Given the description of an element on the screen output the (x, y) to click on. 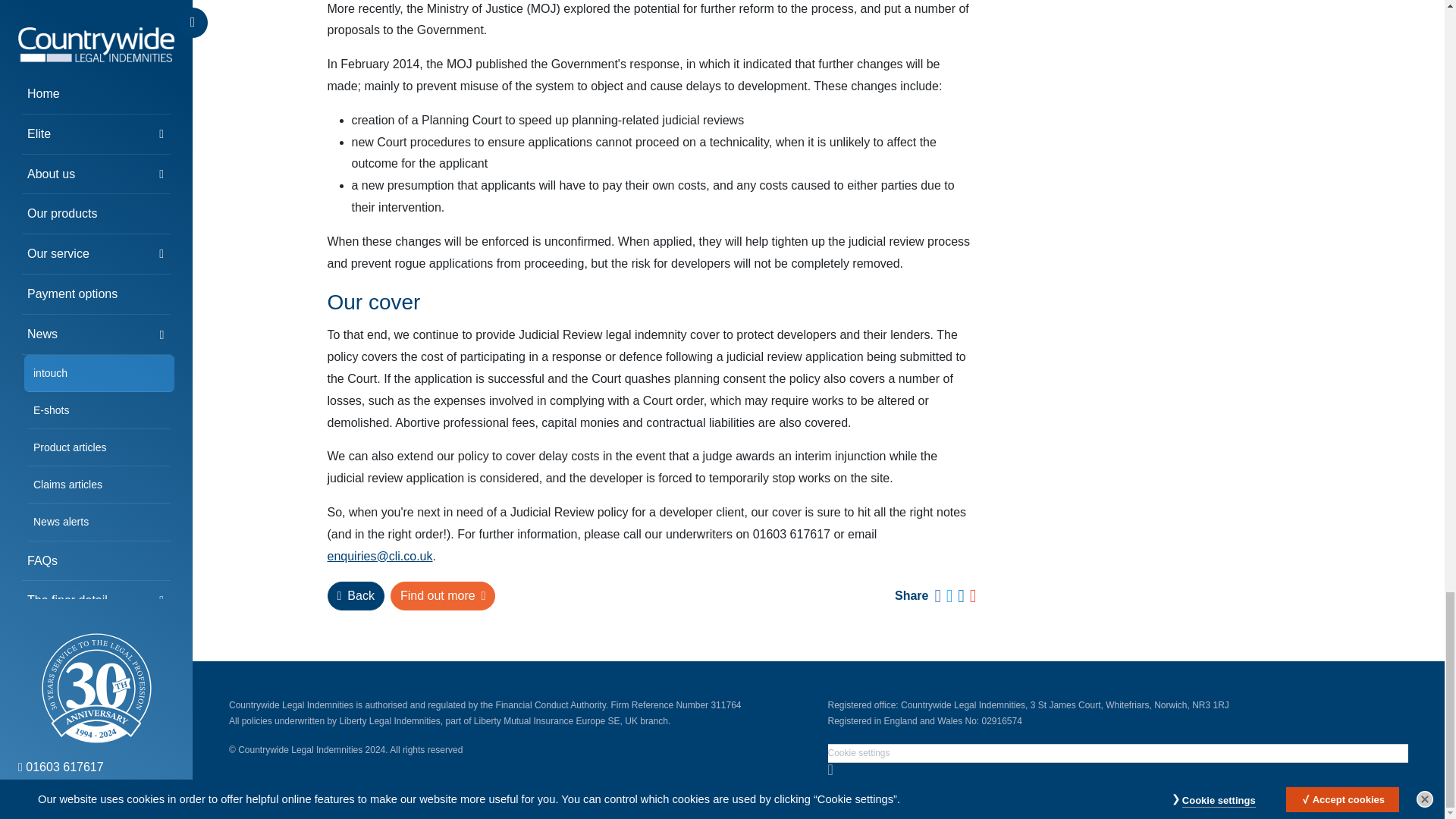
Return to Intouch Winter 2014 (355, 595)
View the Cookie control centre (858, 752)
